Given the description of an element on the screen output the (x, y) to click on. 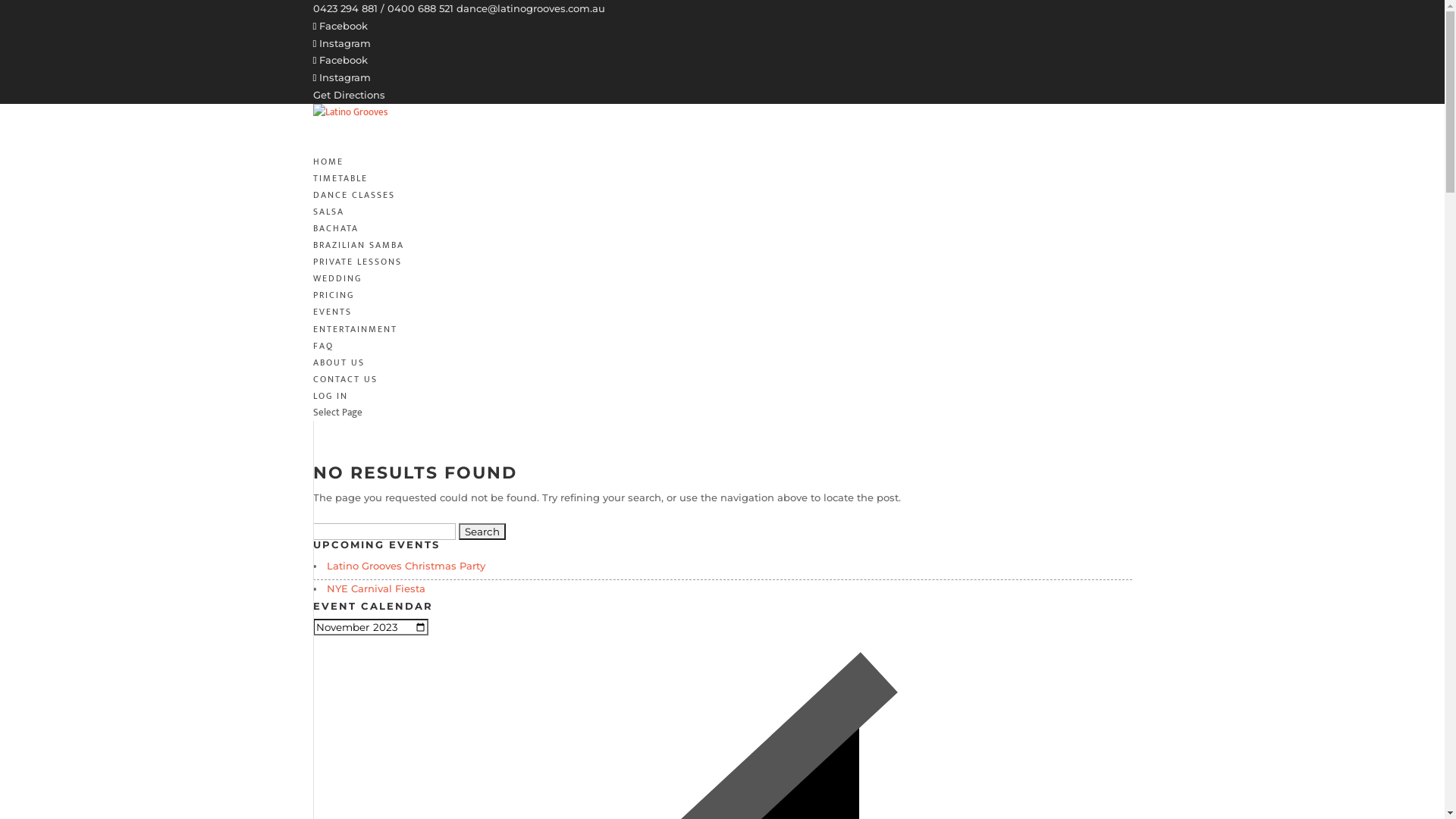
Instagram Element type: text (341, 42)
NYE Carnival Fiesta Element type: text (375, 588)
Instagram Element type: text (341, 77)
Latino Grooves Christmas Party Element type: text (405, 565)
HOME Element type: text (327, 177)
LOG IN Element type: text (329, 412)
Facebook Element type: text (339, 25)
TIMETABLE Element type: text (339, 194)
Facebook Element type: text (339, 59)
EVENTS Element type: text (331, 327)
BACHATA Element type: text (334, 227)
SALSA Element type: text (327, 211)
CONTACT US Element type: text (344, 395)
ABOUT US Element type: text (338, 378)
ENTERTAINMENT Element type: text (354, 345)
DANCE CLASSES Element type: text (353, 211)
dance@latinogrooves.com.au Element type: text (530, 8)
PRICING Element type: text (332, 311)
Search Element type: text (481, 531)
FAQ Element type: text (322, 361)
BRAZILIAN SAMBA Element type: text (357, 244)
PRIVATE LESSONS Element type: text (356, 261)
Get Directions Element type: text (348, 94)
WEDDING Element type: text (336, 277)
